Given the description of an element on the screen output the (x, y) to click on. 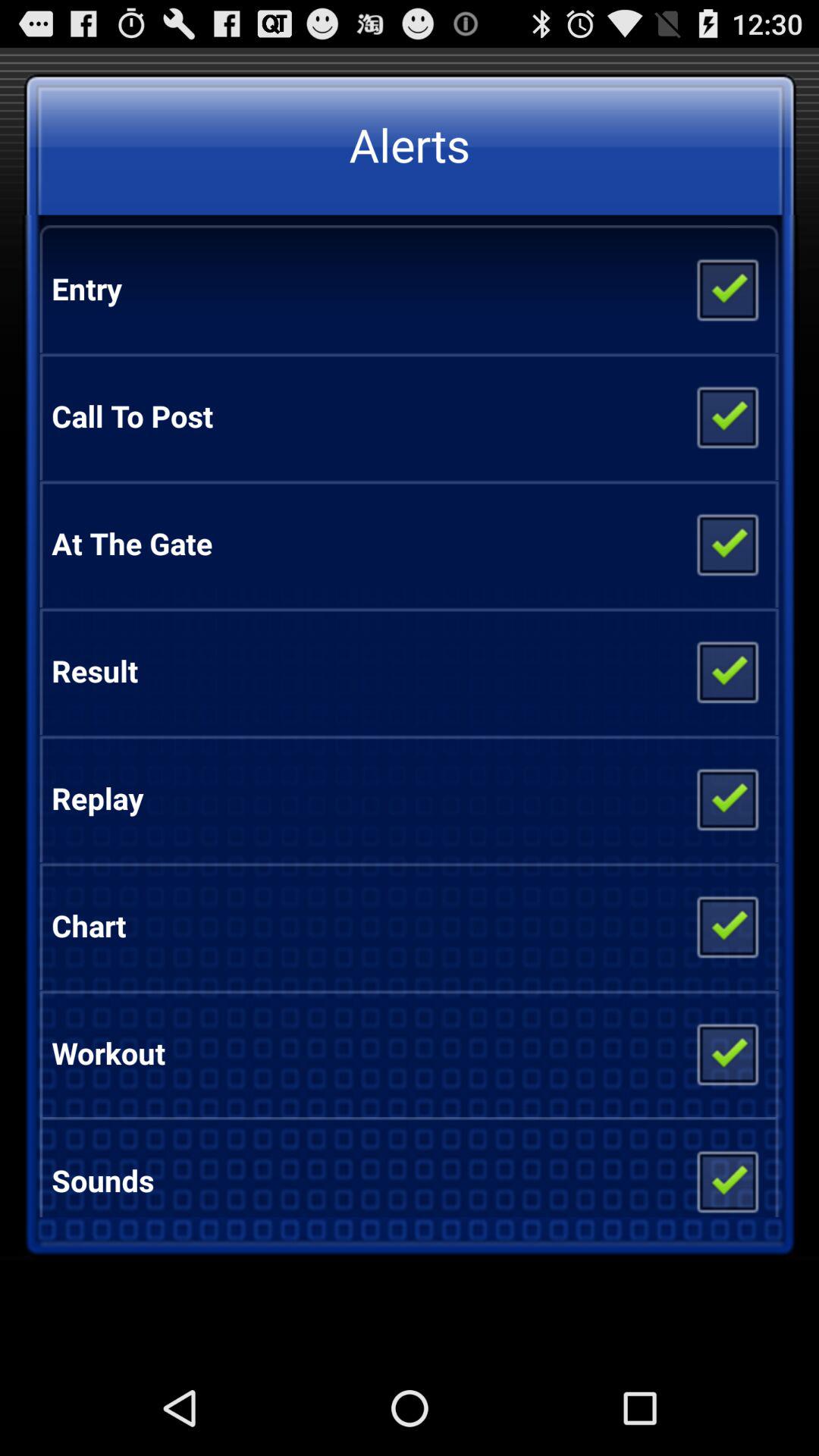
toggle entry alerts (726, 288)
